Given the description of an element on the screen output the (x, y) to click on. 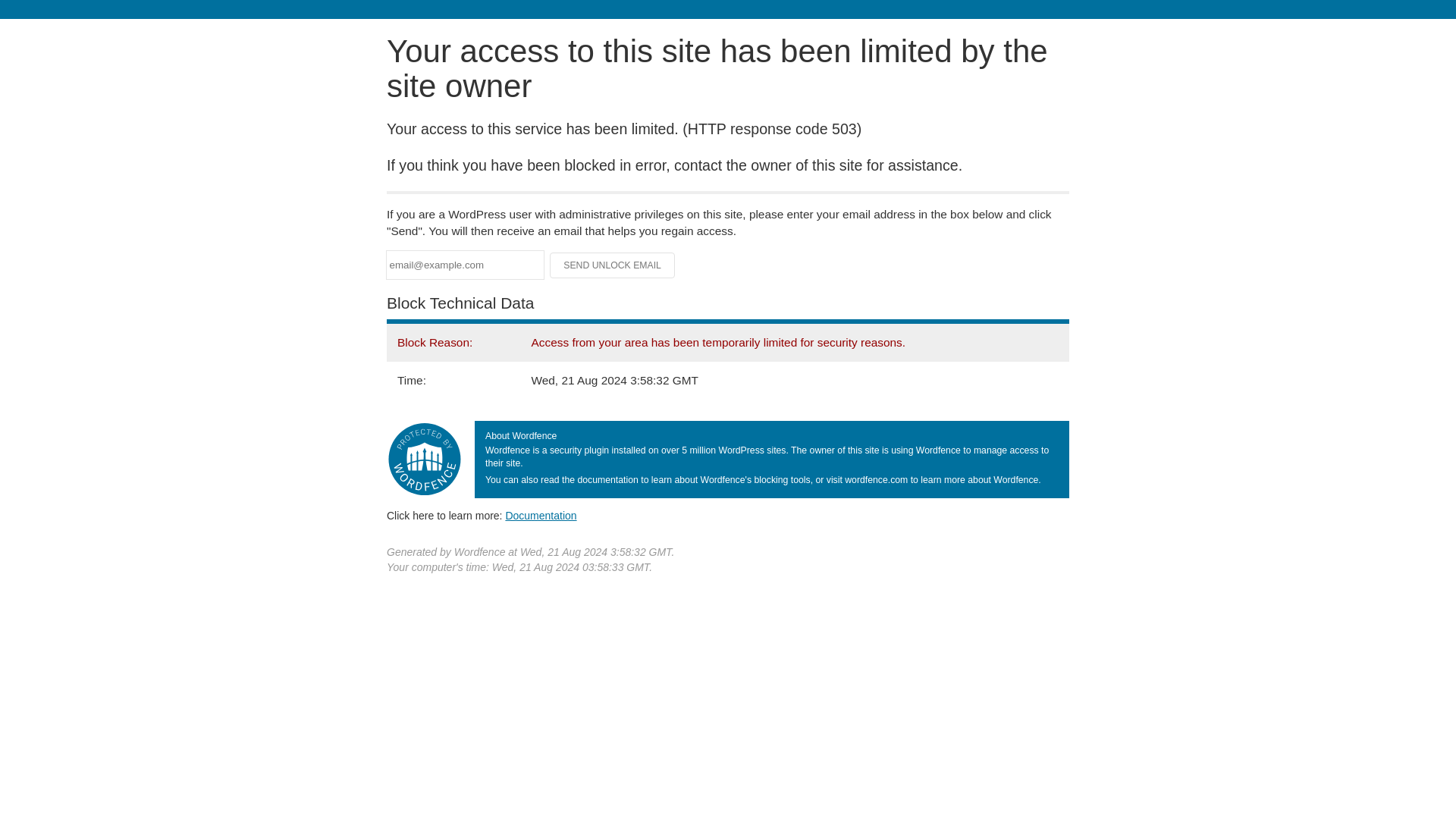
Send Unlock Email (612, 265)
Send Unlock Email (612, 265)
Documentation (540, 515)
